Given the description of an element on the screen output the (x, y) to click on. 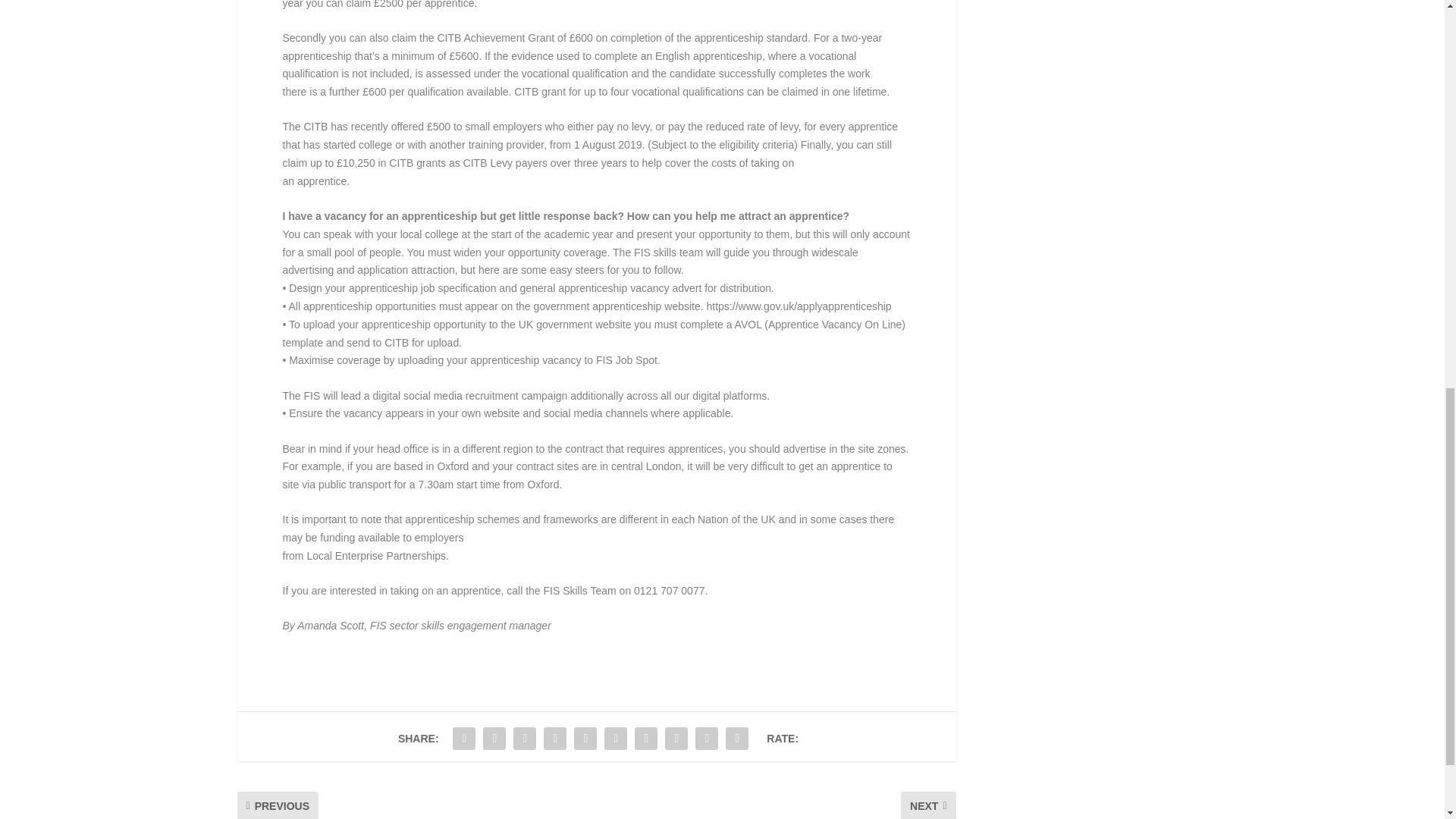
Share "Training recognised as a huge opportunity" via Email (706, 738)
Share "Training recognised as a huge opportunity" via Tumblr (555, 738)
Share "Training recognised as a huge opportunity" via Print (737, 738)
Share "Training recognised as a huge opportunity" via Buffer (645, 738)
